Given the description of an element on the screen output the (x, y) to click on. 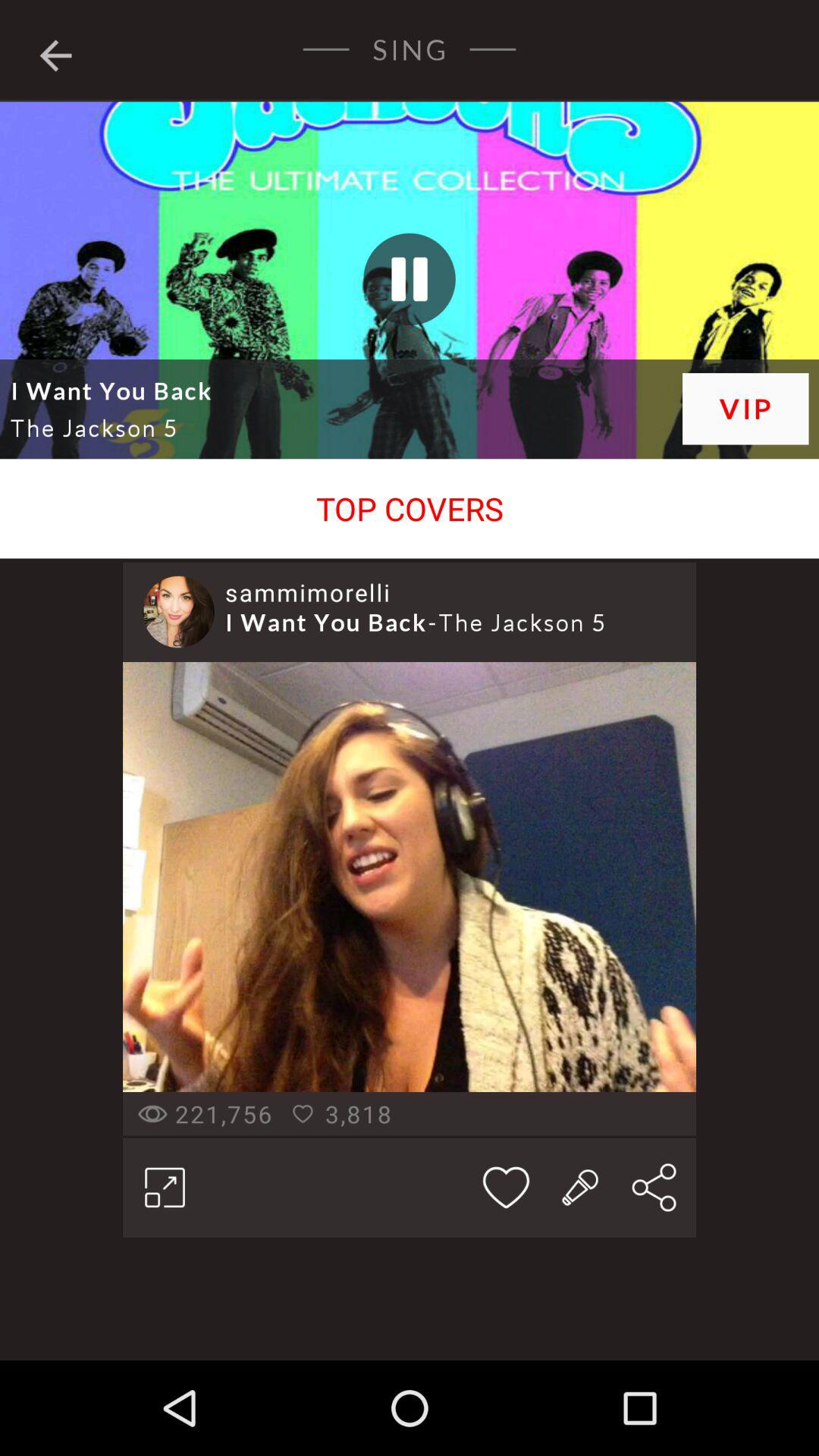
open vip item (745, 408)
